Given the description of an element on the screen output the (x, y) to click on. 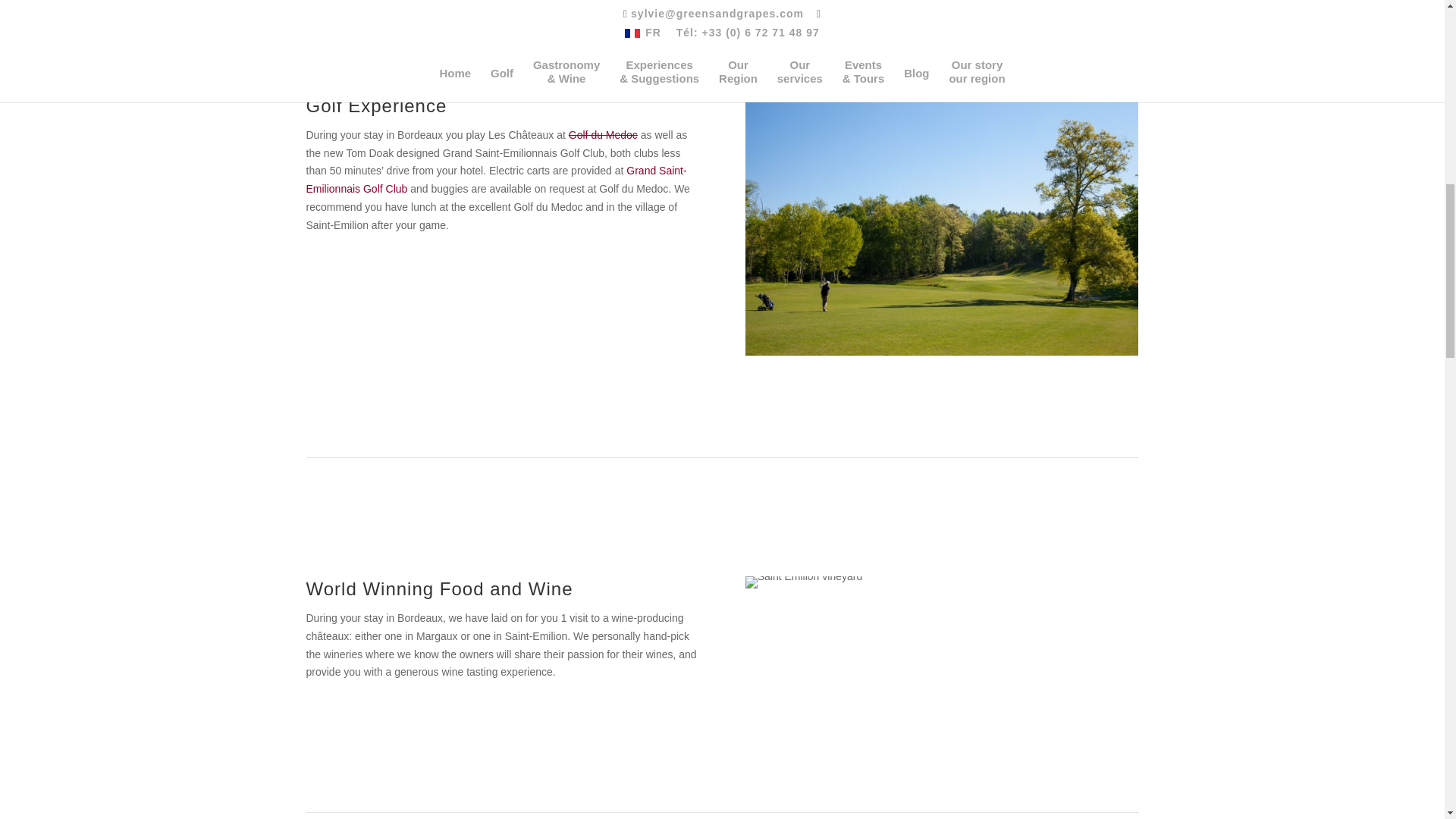
Golf du Medoc (603, 134)
Grand Saint-Emilionnais Golf Club (496, 179)
Family golf (941, 224)
Saint Emilion vineyard (804, 582)
